Given the description of an element on the screen output the (x, y) to click on. 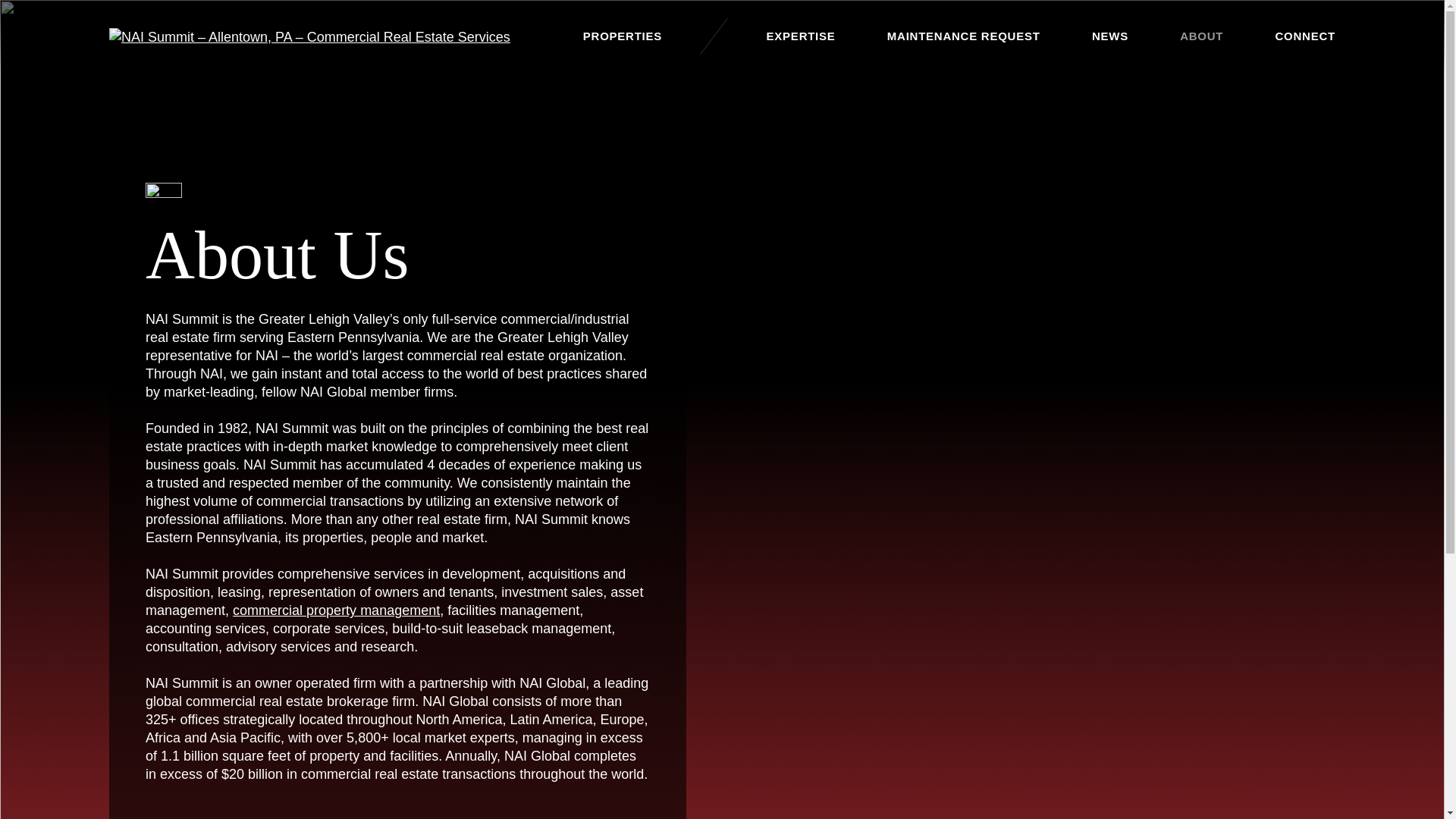
NEWS (1110, 36)
MAINTENANCE REQUEST (963, 36)
PROPERTIES (622, 36)
EXPERTISE (801, 36)
ABOUT (1201, 36)
CONNECT (1305, 36)
commercial property management (335, 610)
